Given the description of an element on the screen output the (x, y) to click on. 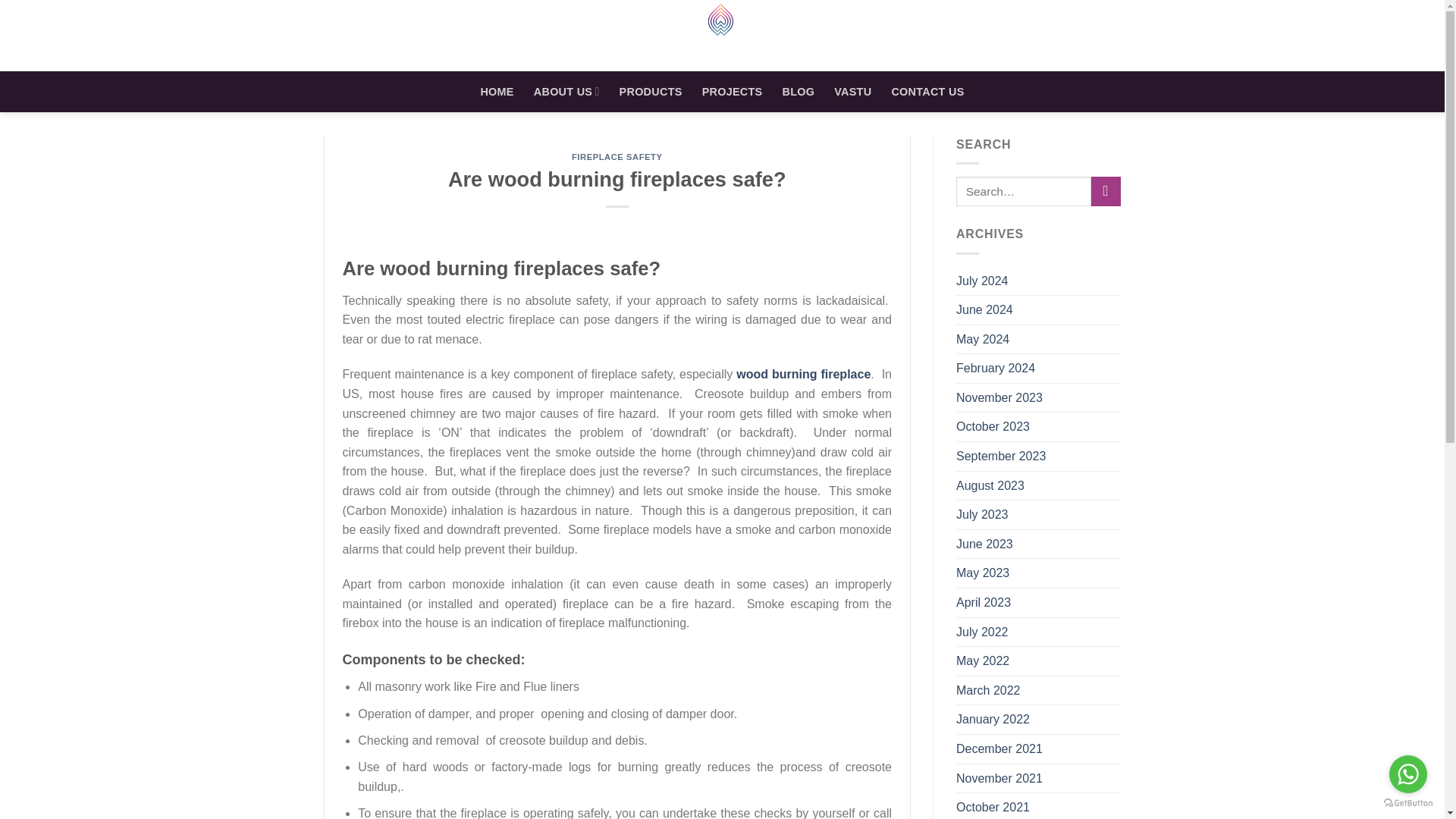
September 2023 (1000, 456)
FIREPLACE SAFETY (617, 156)
PRODUCTS (651, 91)
Follow on Instagram (1343, 35)
August 2023 (990, 485)
October 2023 (992, 426)
CONTACT US (927, 91)
June 2023 (984, 543)
May 2023 (982, 573)
PROJECTS (731, 91)
ABOUT US (566, 91)
July 2024 (982, 280)
June 2024 (984, 309)
July 2023 (982, 514)
February 2024 (995, 368)
